Given the description of an element on the screen output the (x, y) to click on. 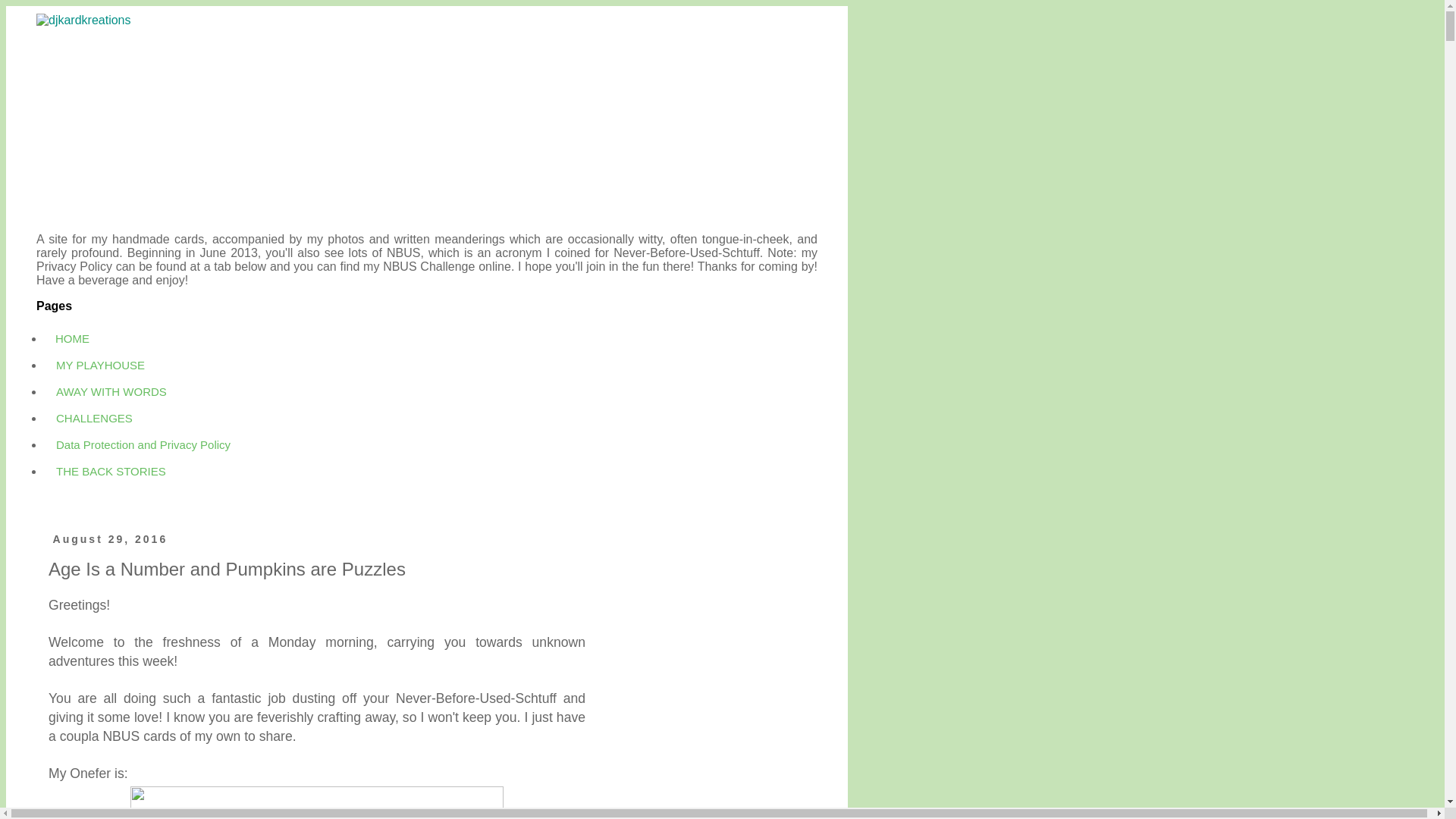
CHALLENGES (93, 417)
THE BACK STORIES (110, 470)
Data Protection and Privacy Policy (143, 444)
HOME (72, 338)
AWAY WITH WORDS (111, 391)
MY PLAYHOUSE (100, 365)
